Given the description of an element on the screen output the (x, y) to click on. 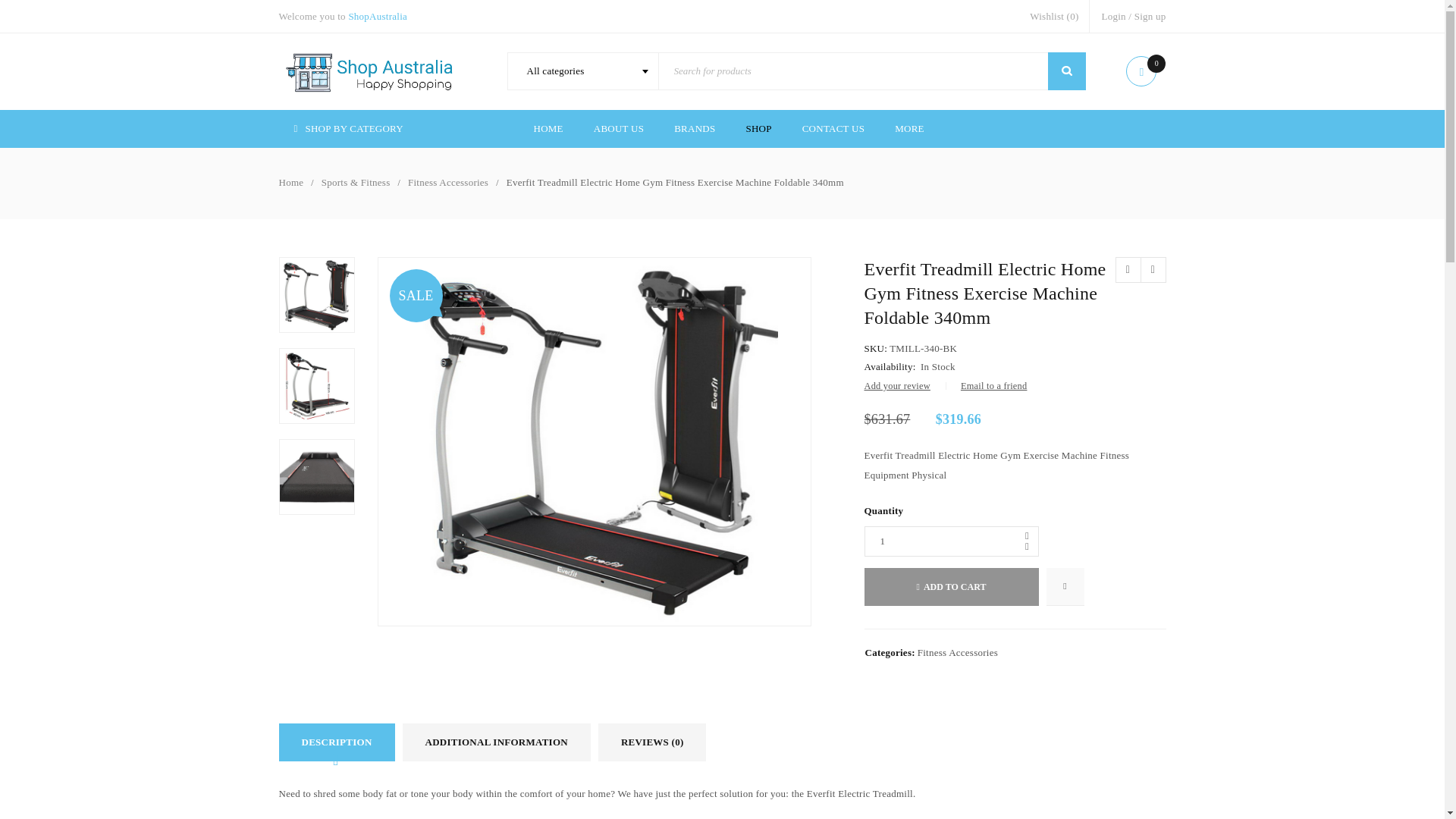
Sign up (1150, 16)
Login (1112, 16)
Shop Australia (370, 71)
- (1026, 546)
Search (1067, 71)
Log in (371, 476)
TMILL-340-BK-02.jpg (316, 476)
Wishlist (1053, 16)
ShopAustralia (377, 16)
Create New Account (1150, 16)
All categories (583, 71)
1 (951, 541)
Search (1067, 71)
TMILL-340-BK-01.jpg (316, 385)
TMILL-340-BK-00.jpg (316, 294)
